Given the description of an element on the screen output the (x, y) to click on. 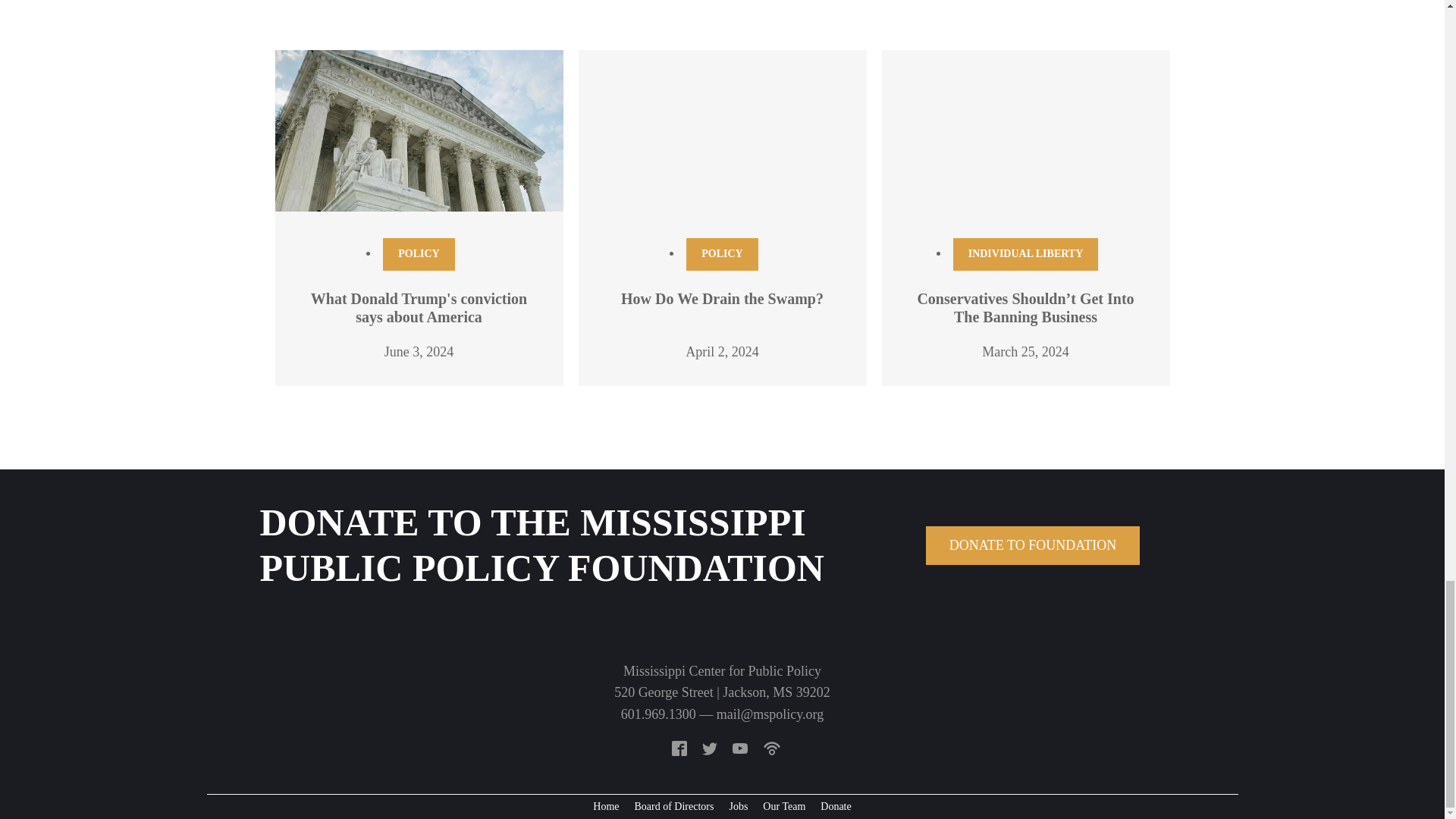
POLICY (721, 254)
What Donald Trump's conviction says about America (419, 307)
POLICY (418, 254)
How Do We Drain the Swamp? (722, 298)
